Given the description of an element on the screen output the (x, y) to click on. 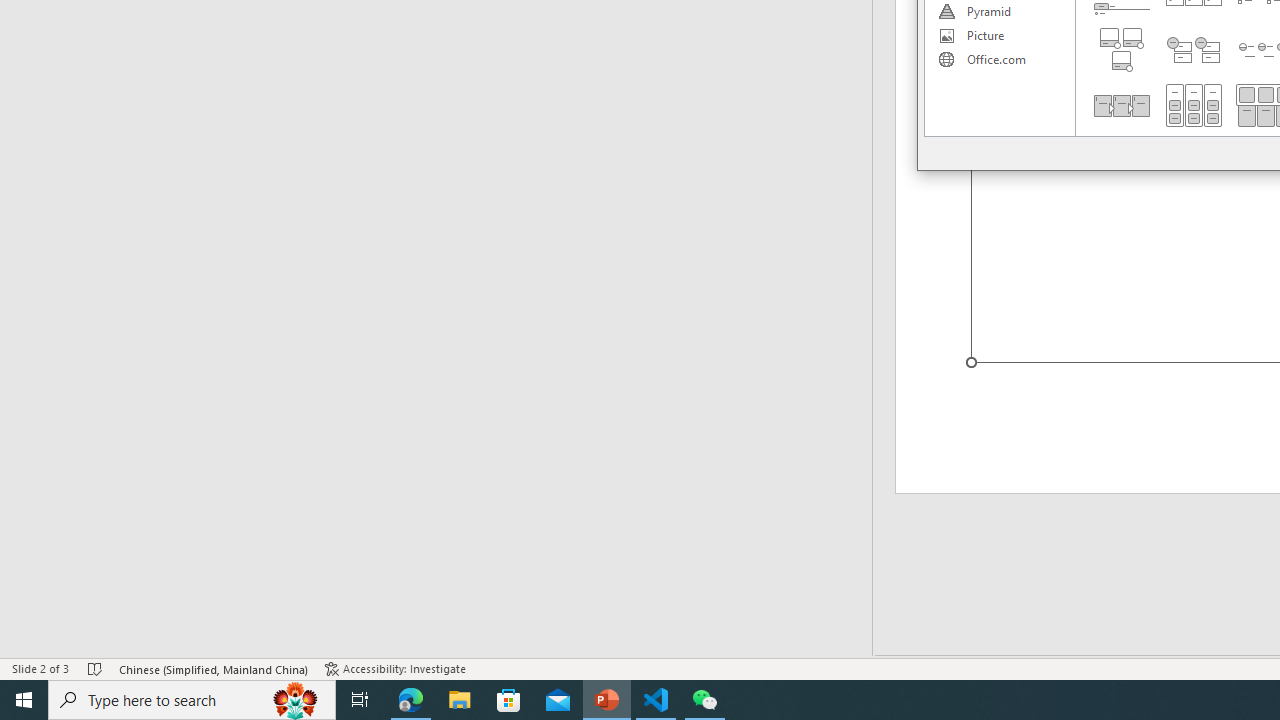
Bending Picture Accent List (1121, 49)
Picture (999, 35)
Pyramid (999, 11)
Detailed Process (1121, 105)
Stacked List (1194, 49)
